Given the description of an element on the screen output the (x, y) to click on. 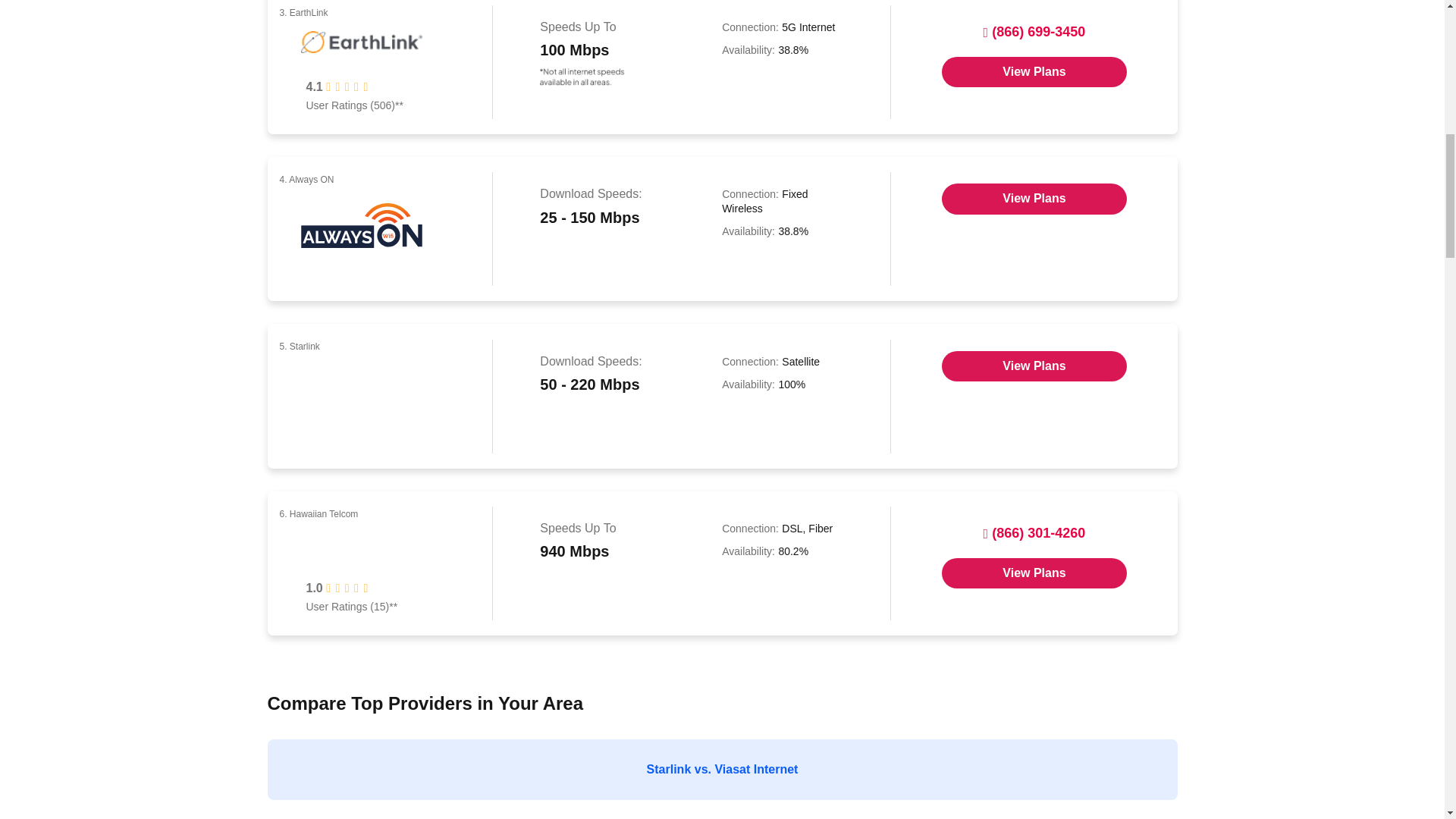
Opens in a new window (1034, 572)
Opens in a new window (1034, 71)
Opens in a new window (1034, 366)
